Given the description of an element on the screen output the (x, y) to click on. 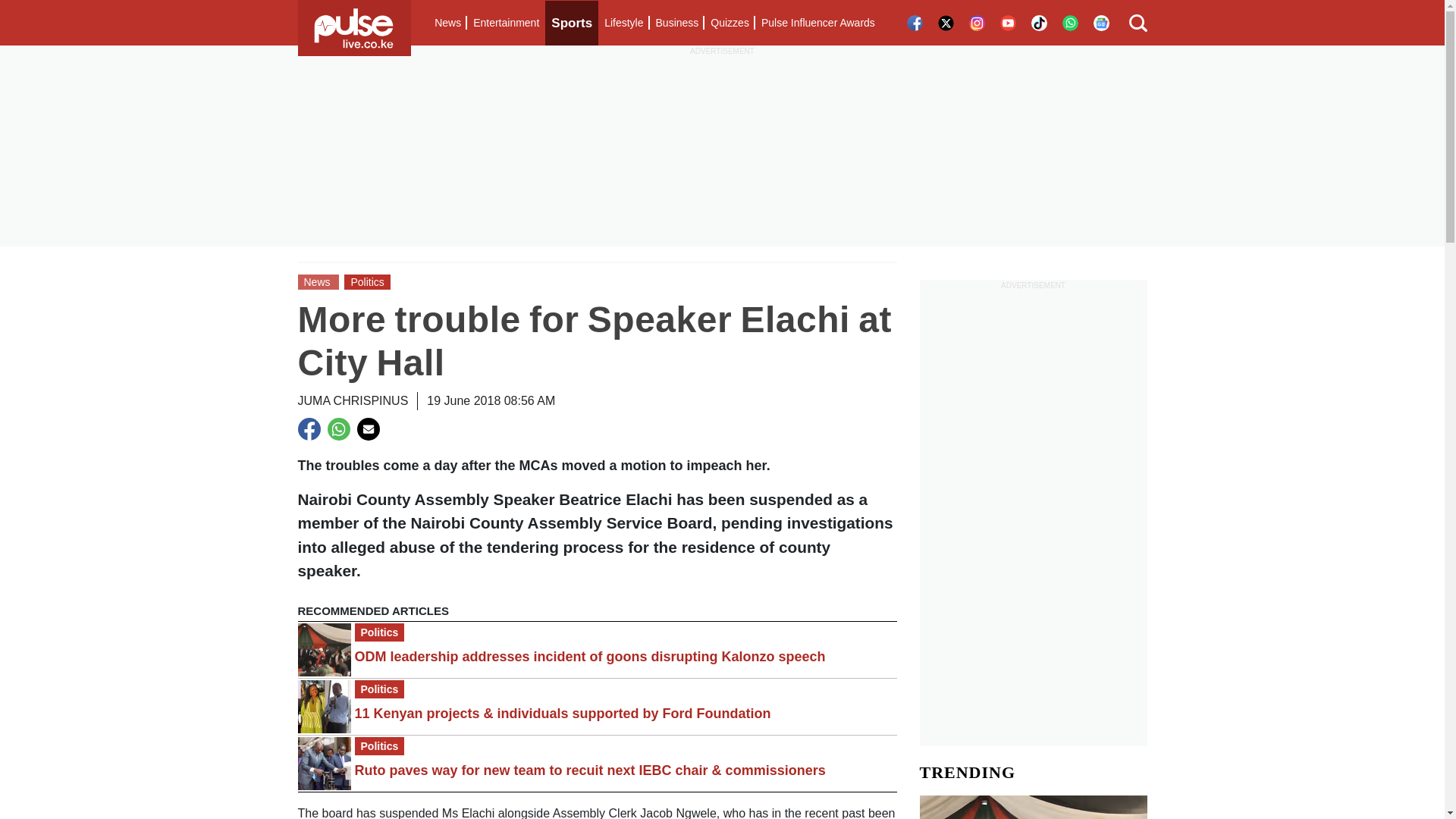
Quizzes (729, 22)
Pulse Influencer Awards (817, 22)
Sports (571, 22)
Business (676, 22)
Lifestyle (623, 22)
Entertainment (505, 22)
